Given the description of an element on the screen output the (x, y) to click on. 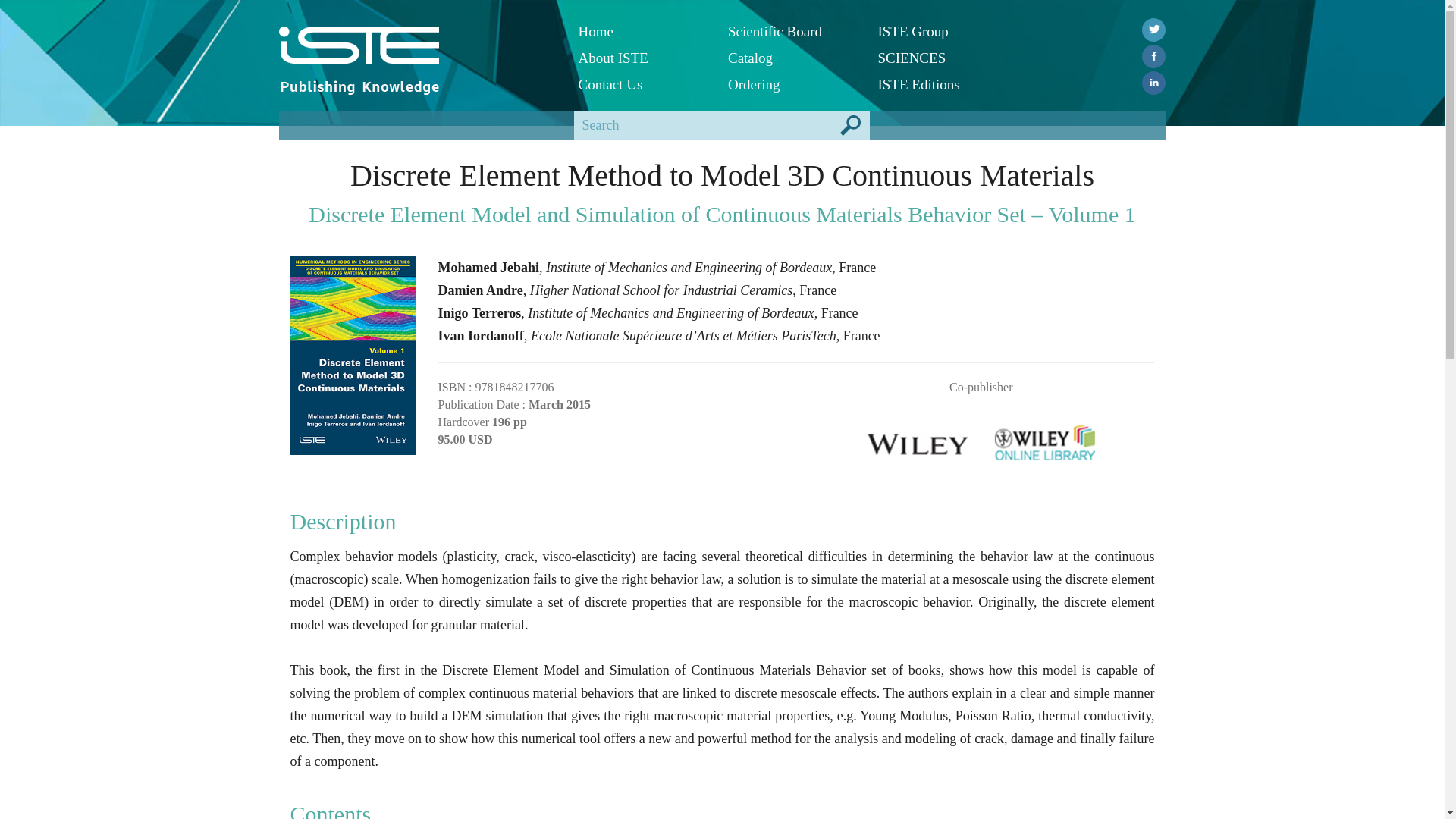
ISTE Group (940, 31)
Catalog (791, 58)
Facebook (1153, 56)
Publishing Knowledge (359, 86)
About ISTE (641, 58)
Wiley Online Library (1044, 437)
ISTE Editions (940, 84)
ISTE Editions (940, 84)
Home (641, 31)
Home (641, 31)
ISTE Group (940, 31)
Catalog PDF (791, 58)
Wiley (917, 437)
ISTE (417, 46)
